Given the description of an element on the screen output the (x, y) to click on. 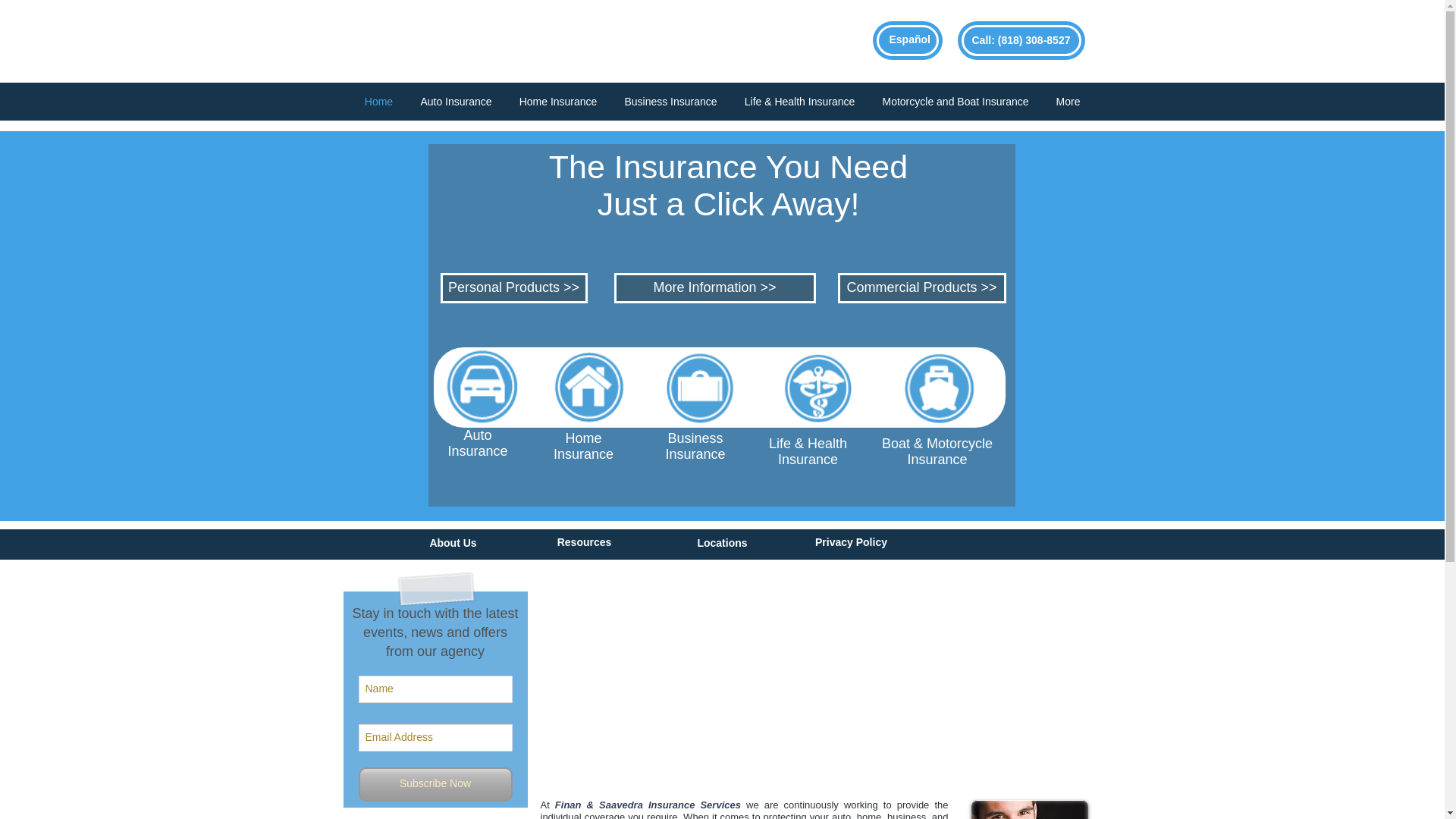
Home (378, 101)
About Us (452, 542)
Motorcycle and Boat Insurance (955, 101)
Locations (721, 542)
Insurance (582, 453)
Home (582, 437)
Subscribe Now (435, 784)
Resources (584, 541)
Auto Insurance (455, 101)
Privacy Policy (850, 541)
